Given the description of an element on the screen output the (x, y) to click on. 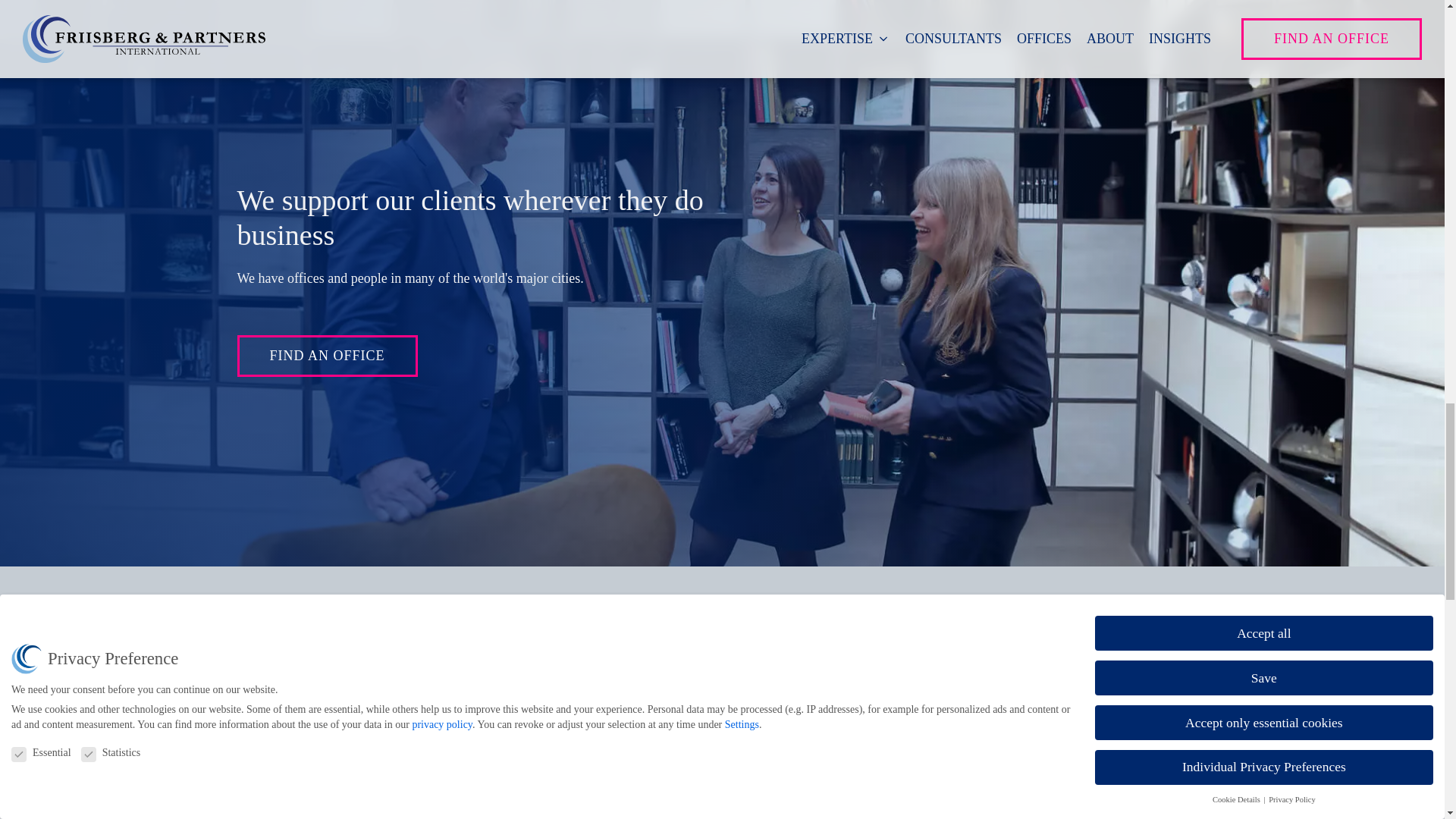
FIND AN OFFICE (325, 355)
